Given the description of an element on the screen output the (x, y) to click on. 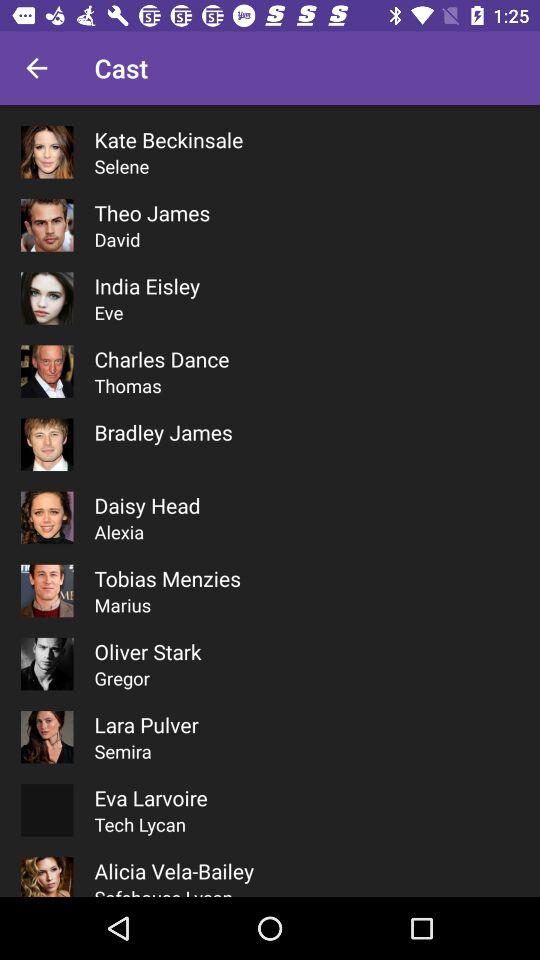
open the item above tech lycan item (150, 797)
